Given the description of an element on the screen output the (x, y) to click on. 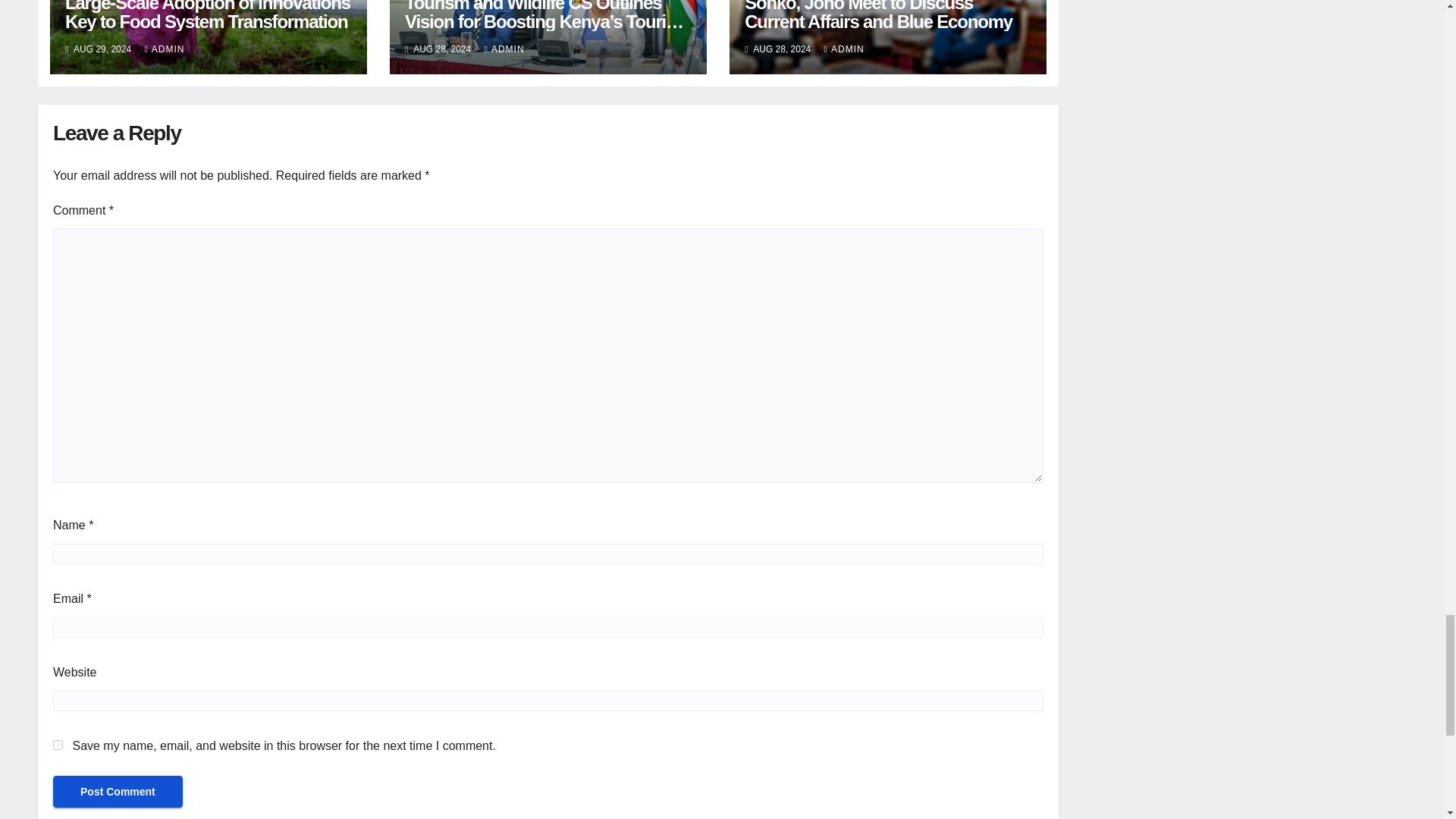
Post Comment (117, 791)
yes (57, 745)
